Given the description of an element on the screen output the (x, y) to click on. 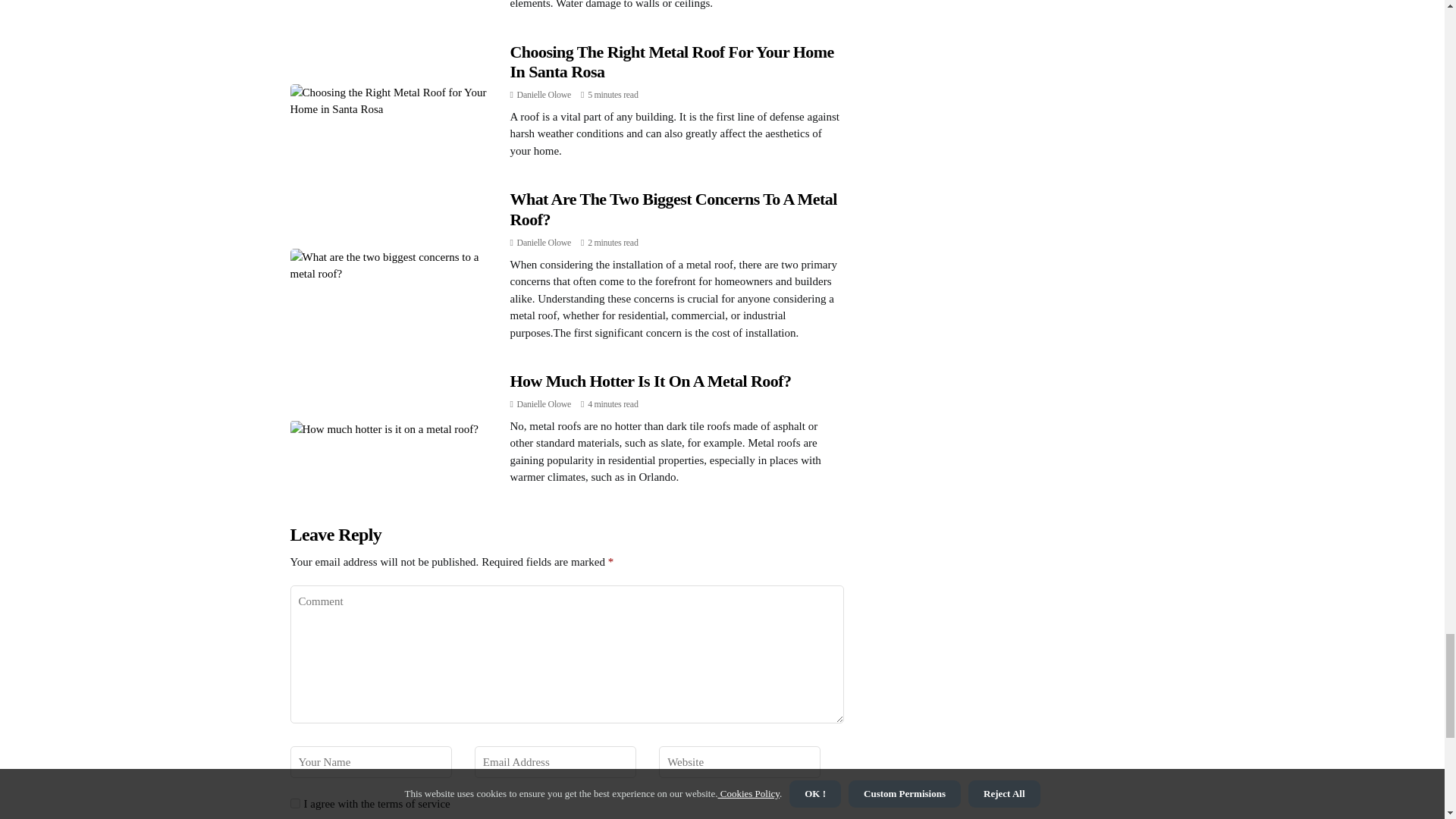
Posts by Danielle Olowe (543, 242)
yes (294, 803)
Posts by Danielle Olowe (543, 94)
Choosing The Right Metal Roof For Your Home In Santa Rosa (670, 61)
Danielle Olowe (543, 94)
How Much Hotter Is It On A Metal Roof? (649, 380)
What Are The Two Biggest Concerns To A Metal Roof? (672, 208)
Danielle Olowe (543, 242)
Danielle Olowe (543, 403)
Posts by Danielle Olowe (543, 403)
